Given the description of an element on the screen output the (x, y) to click on. 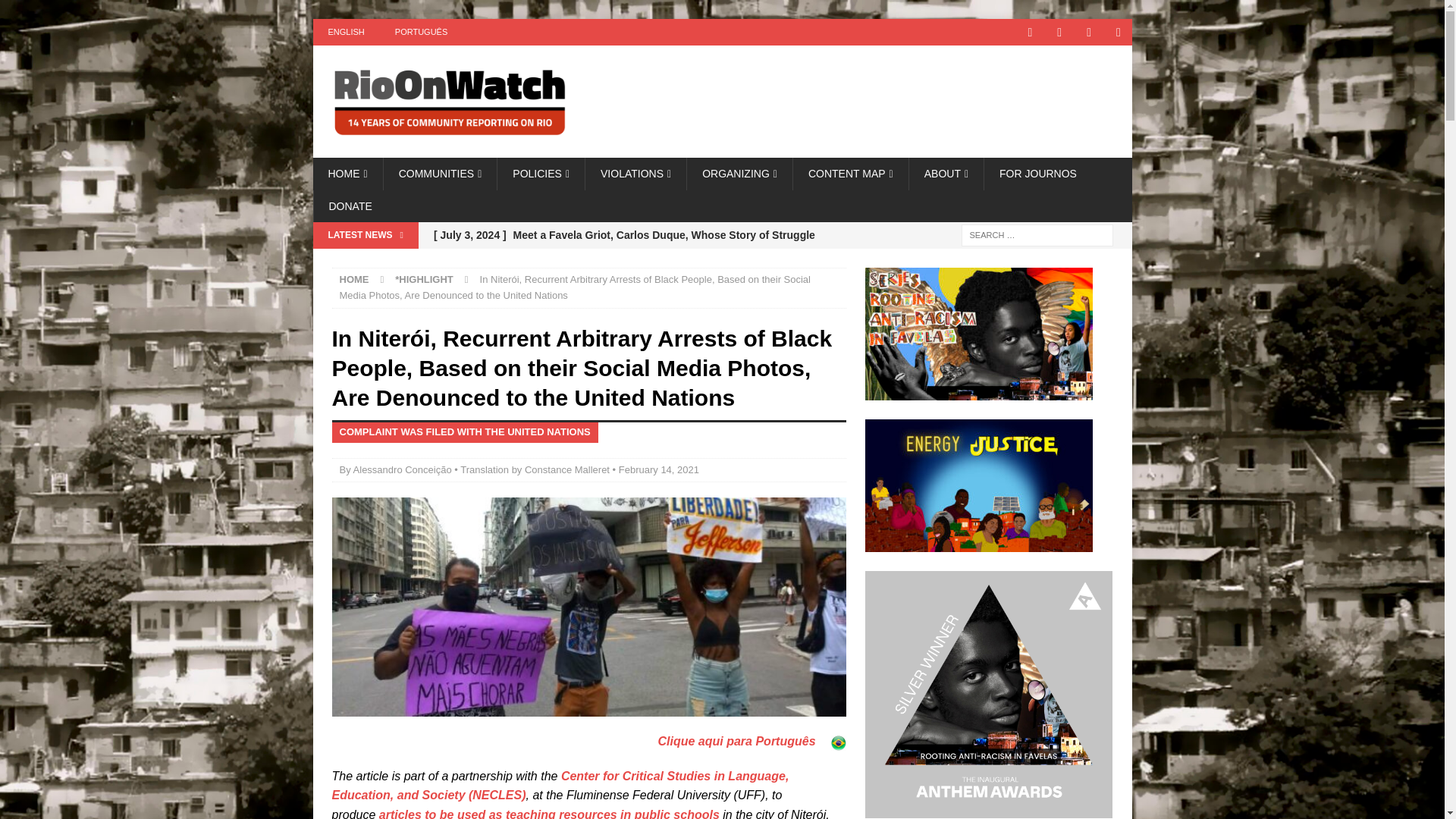
ENGLISH (345, 31)
